Given the description of an element on the screen output the (x, y) to click on. 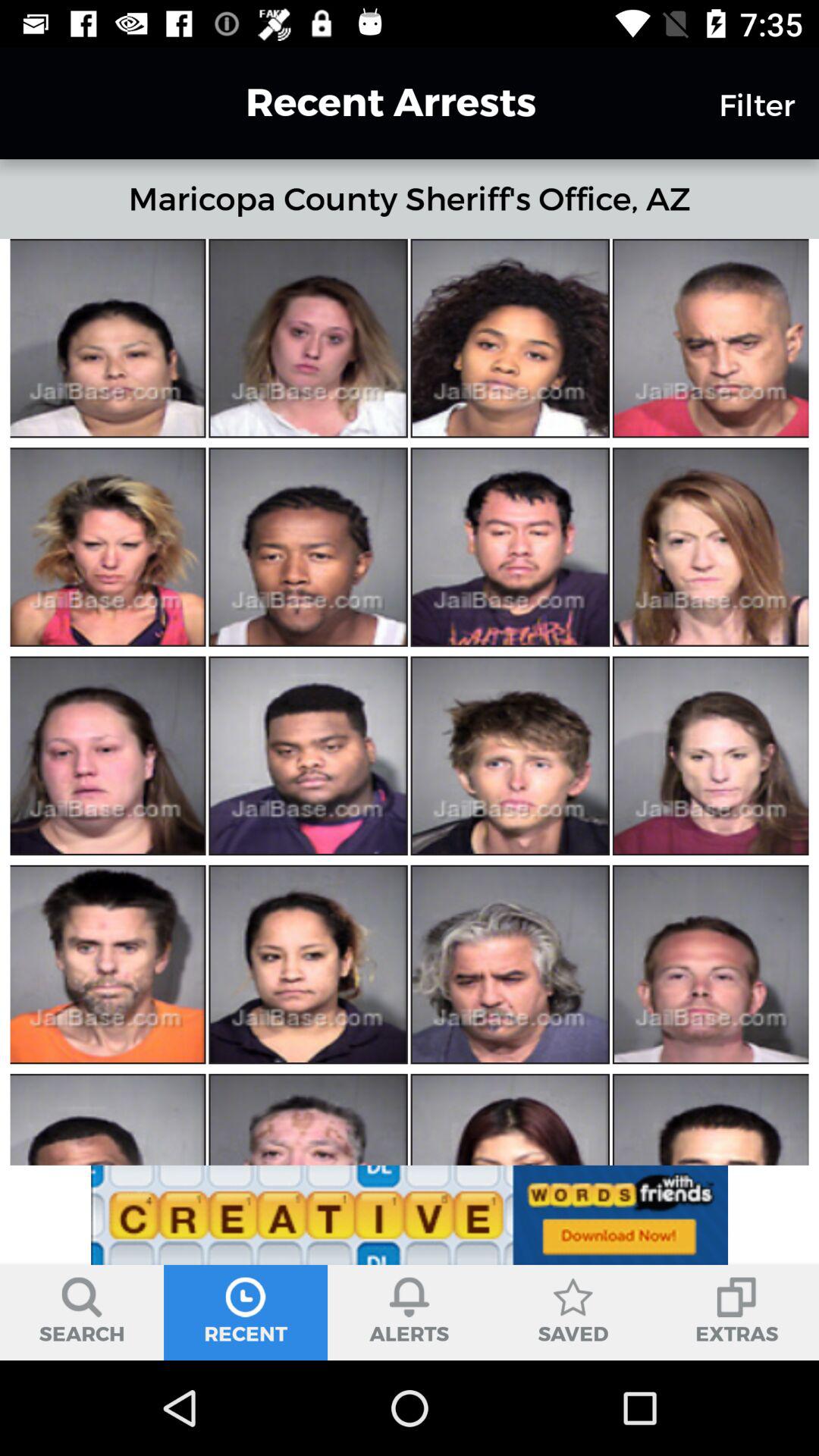
tap the icon to the left of the filter (363, 102)
